Given the description of an element on the screen output the (x, y) to click on. 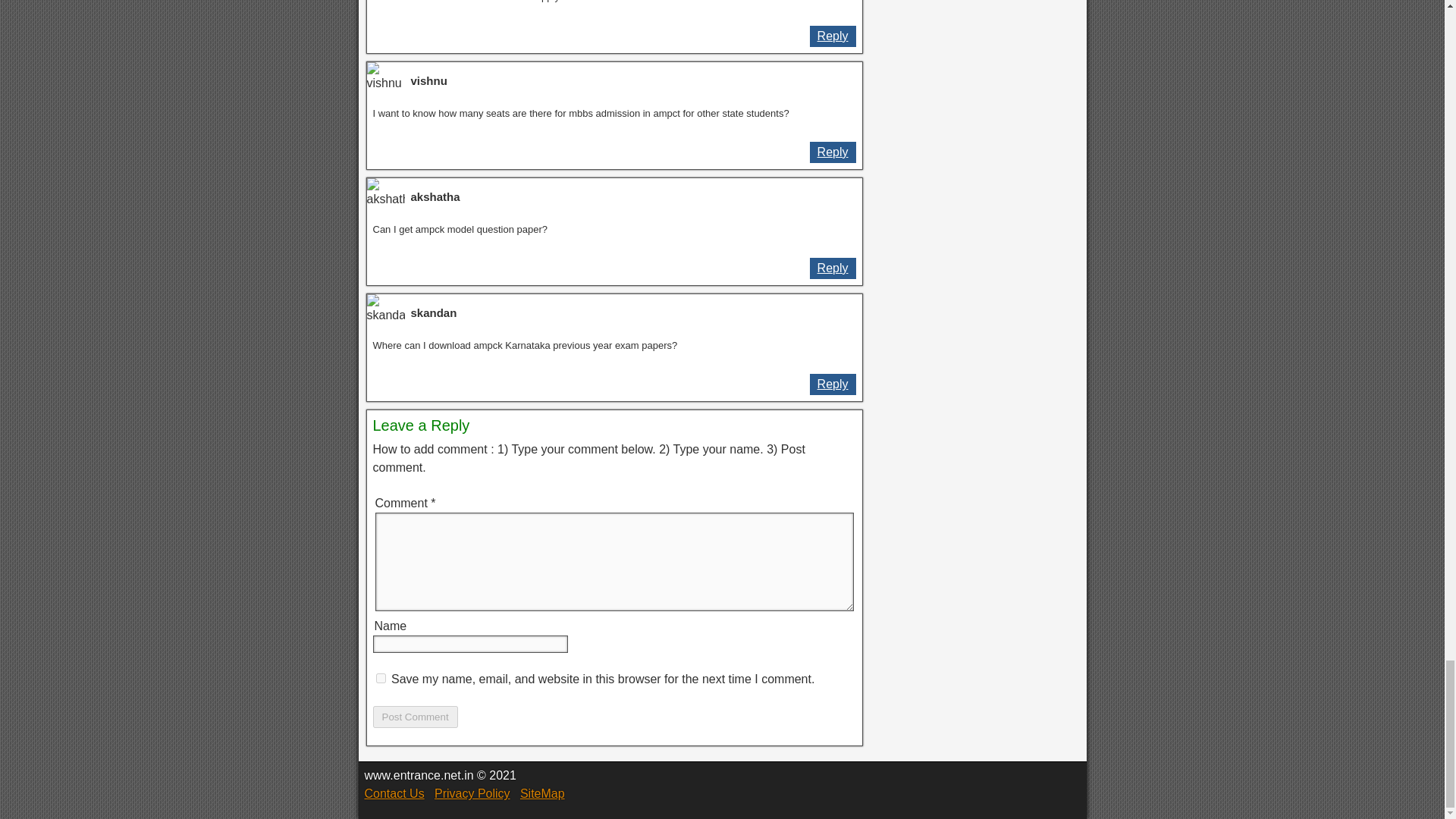
Reply (832, 268)
Reply (832, 383)
yes (380, 678)
Reply (832, 35)
Reply (832, 151)
Contact Us (393, 793)
Post Comment (415, 716)
Post Comment (415, 716)
